Given the description of an element on the screen output the (x, y) to click on. 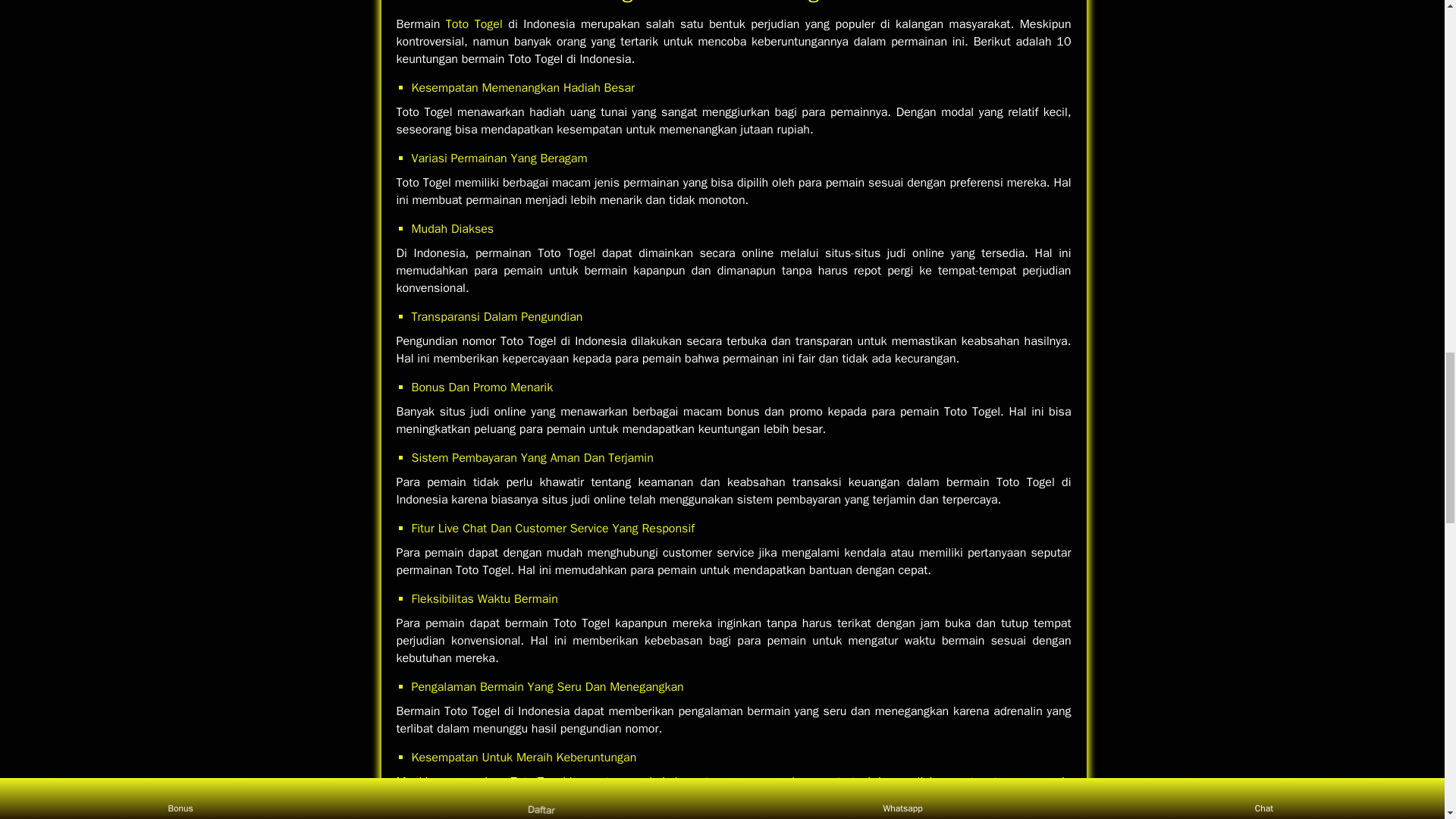
Toto Togel (473, 23)
